Given the description of an element on the screen output the (x, y) to click on. 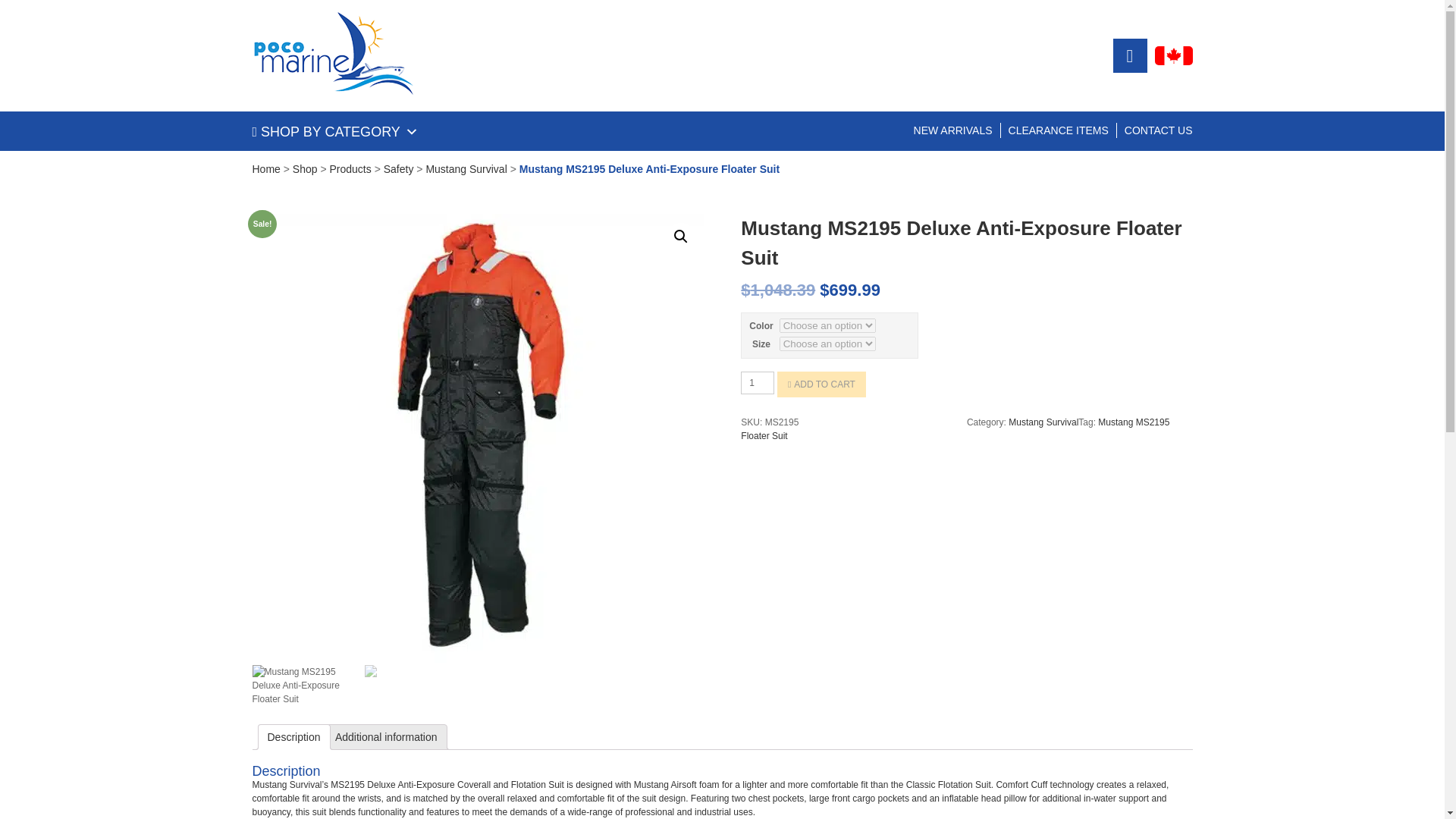
Go to Products. (350, 168)
Go to Mustang MS2195 Deluxe Anti-Exposure Floater Suit. (648, 168)
View your shopping cart (1130, 55)
Go to the Mustang Survival Product Category archives. (465, 168)
SHOP BY CATEGORY (334, 131)
1 (757, 382)
Go to the Safety Product Category archives. (398, 168)
Poco Marine (332, 55)
Go to Shop. (304, 168)
Go to Poco Marine. (265, 168)
